Given the description of an element on the screen output the (x, y) to click on. 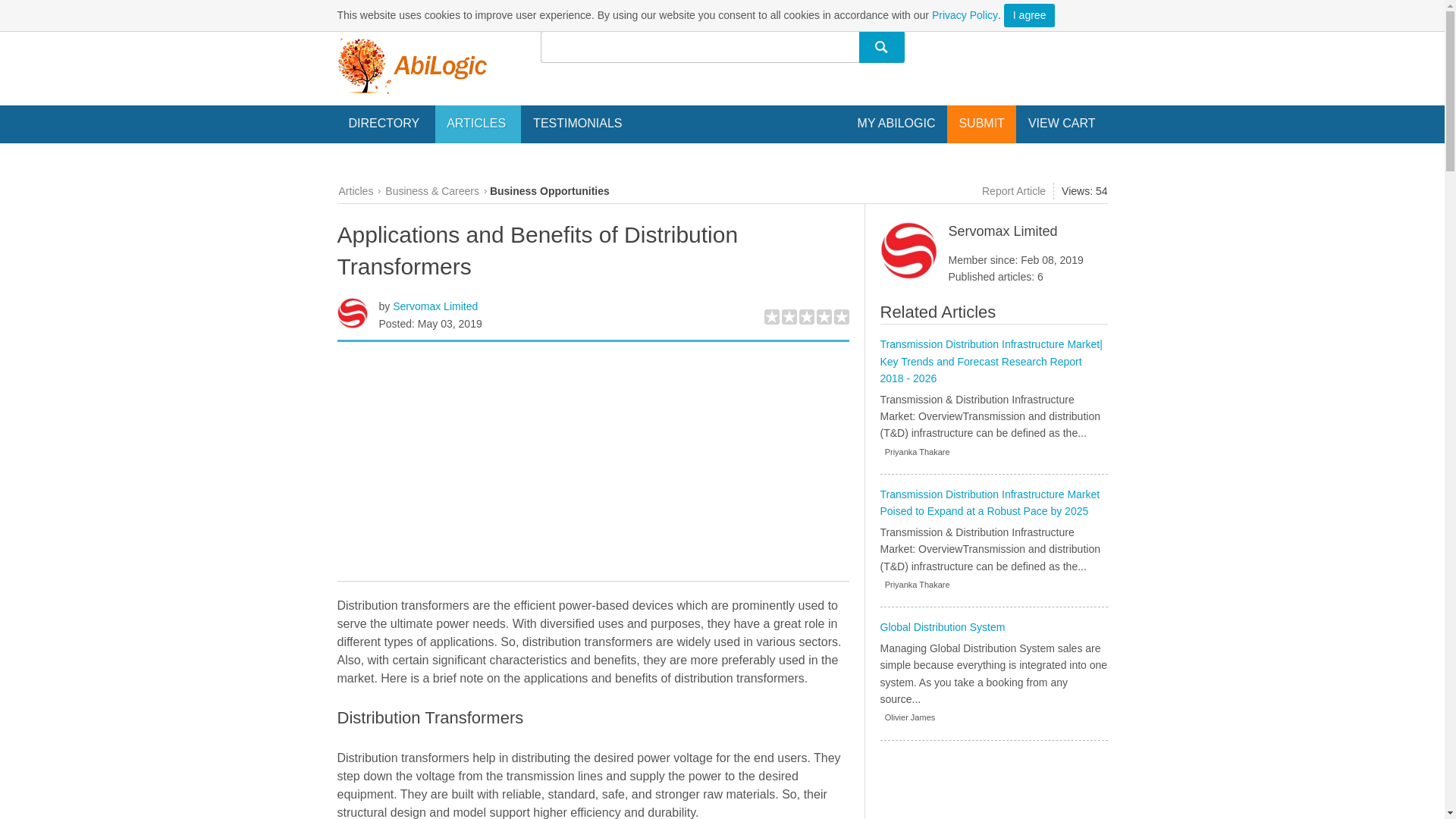
I agree (1029, 15)
VIEW CART (1061, 123)
TESTIMONIALS (577, 123)
MY ABILOGIC (896, 123)
DIRECTORY (384, 123)
ARTICLES (478, 123)
Privacy Policy (964, 15)
 Report Article (1011, 191)
Global Distribution System (941, 626)
